Given the description of an element on the screen output the (x, y) to click on. 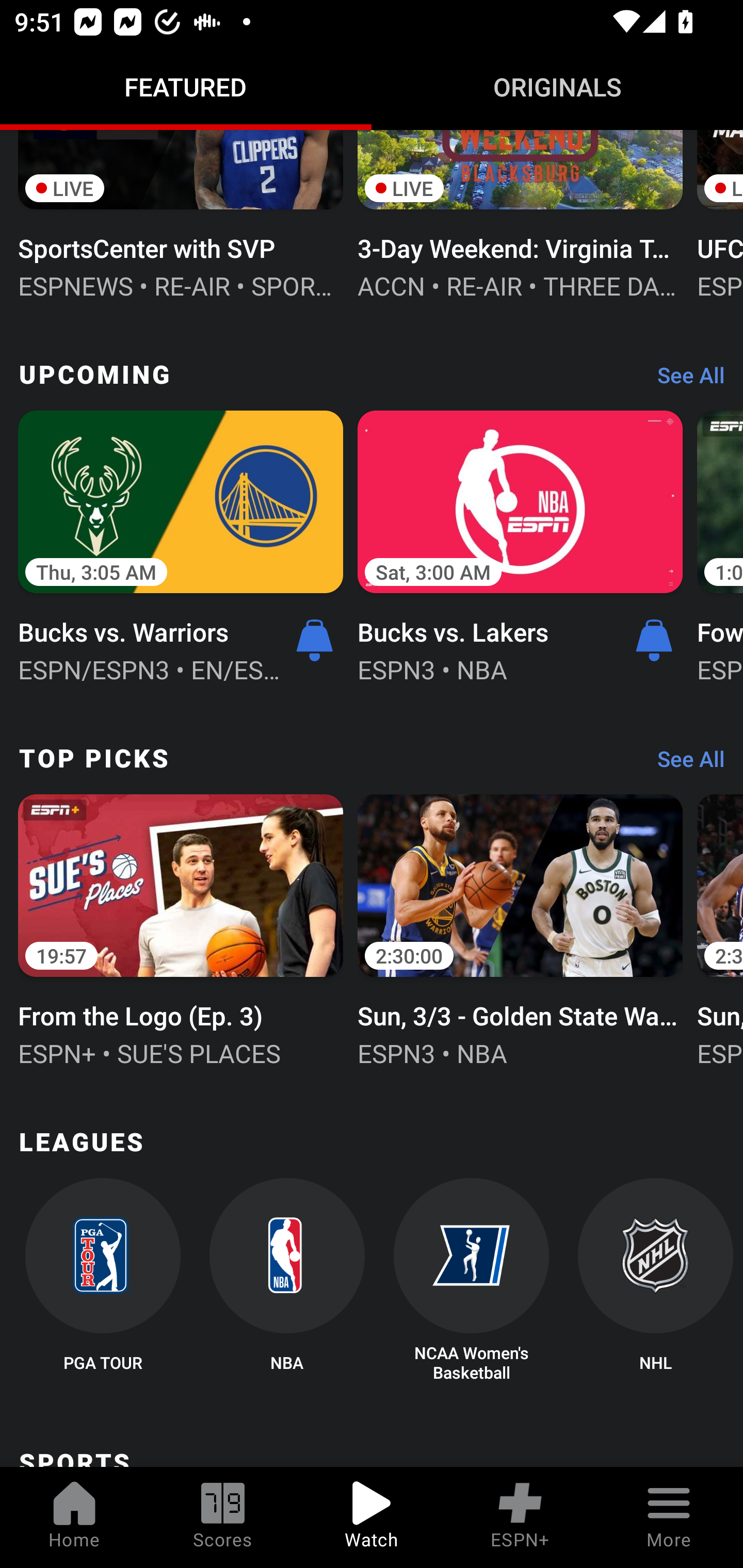
Originals ORIGINALS (557, 86)
See All (683, 379)
See All (683, 763)
19:57 From the Logo (Ep. 3) ESPN+ • SUE'S PLACES (180, 928)
PGA TOUR (102, 1280)
NBA (286, 1280)
NCAA Women's Basketball (471, 1280)
NHL (655, 1280)
Home (74, 1517)
Scores (222, 1517)
ESPN+ (519, 1517)
More (668, 1517)
